Given the description of an element on the screen output the (x, y) to click on. 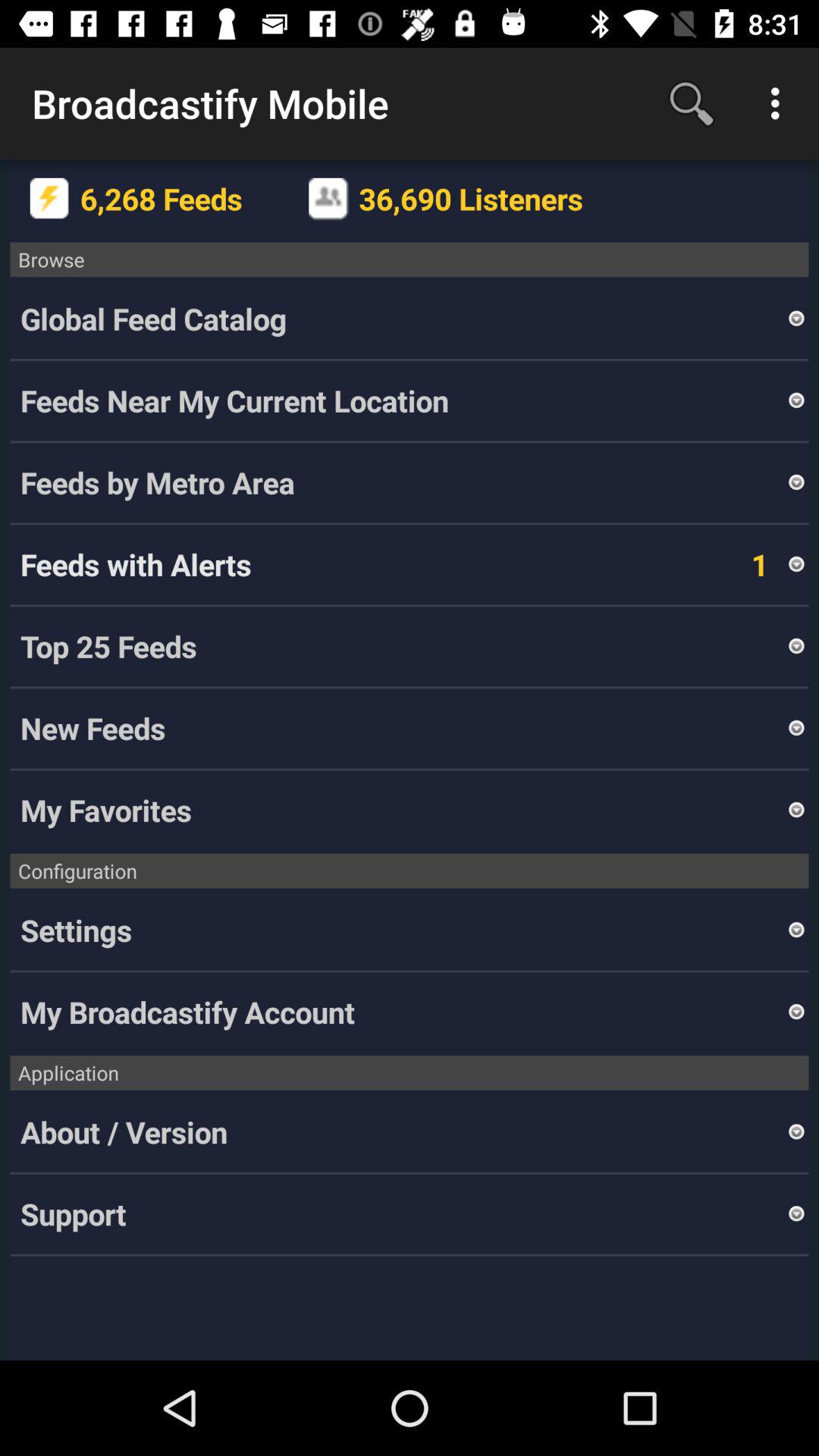
tap icon above the top 25 feeds item (796, 564)
